Given the description of an element on the screen output the (x, y) to click on. 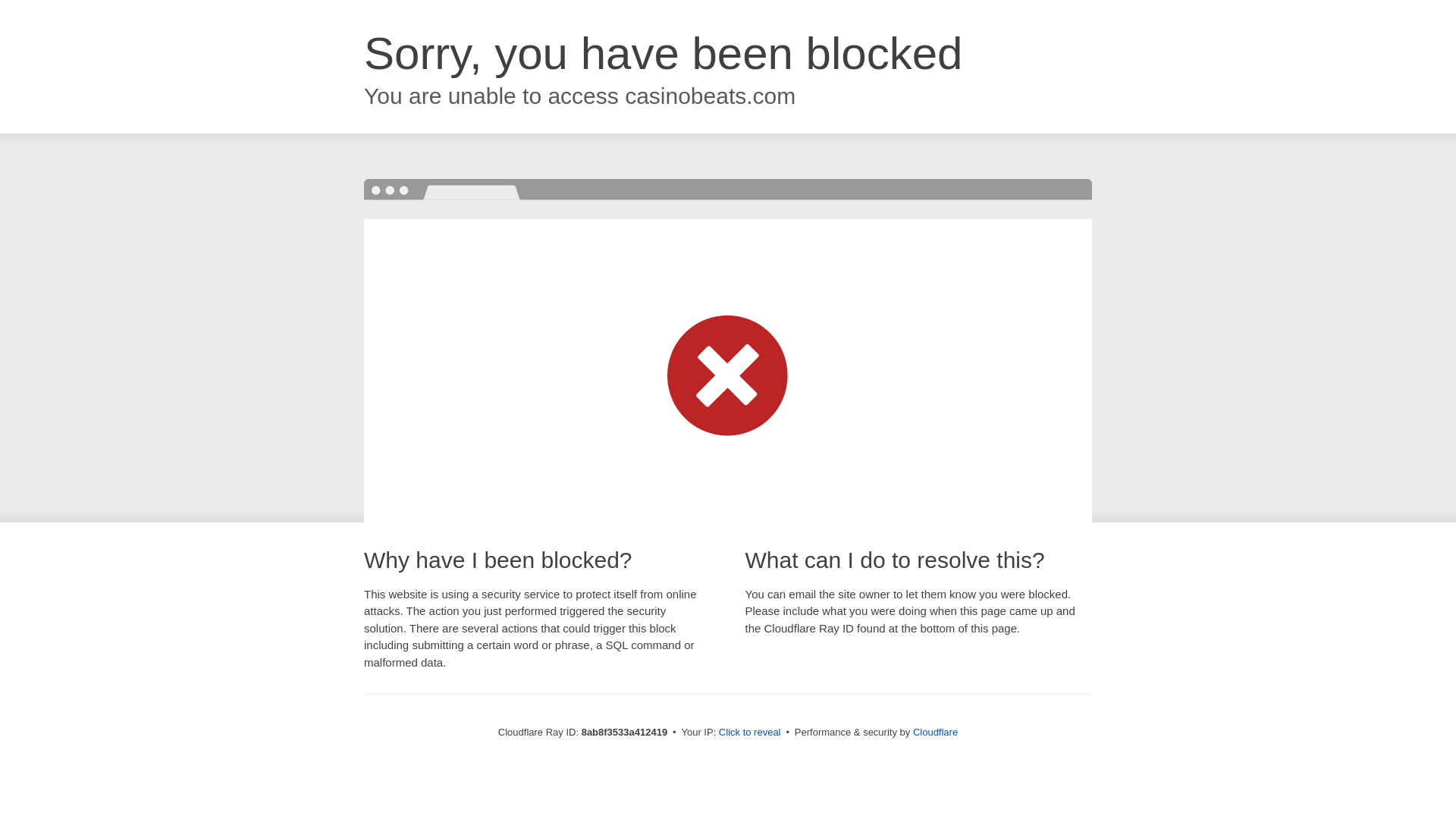
Cloudflare (935, 731)
Click to reveal (749, 732)
